Given the description of an element on the screen output the (x, y) to click on. 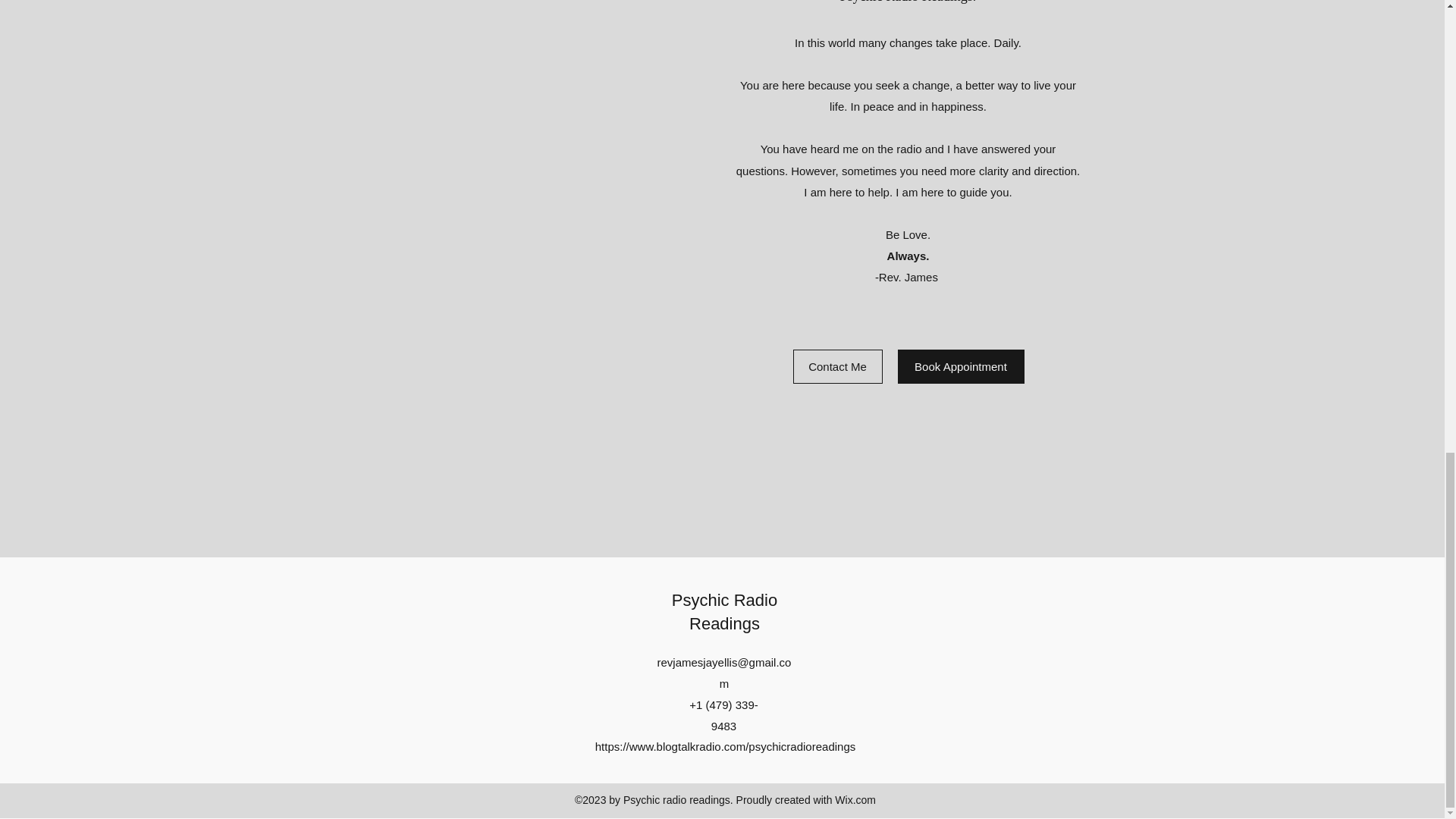
Contact Me (837, 366)
Psychic Radio Readings (724, 611)
www.blogtalkradio.com (686, 746)
Book Appointment (961, 366)
